Given the description of an element on the screen output the (x, y) to click on. 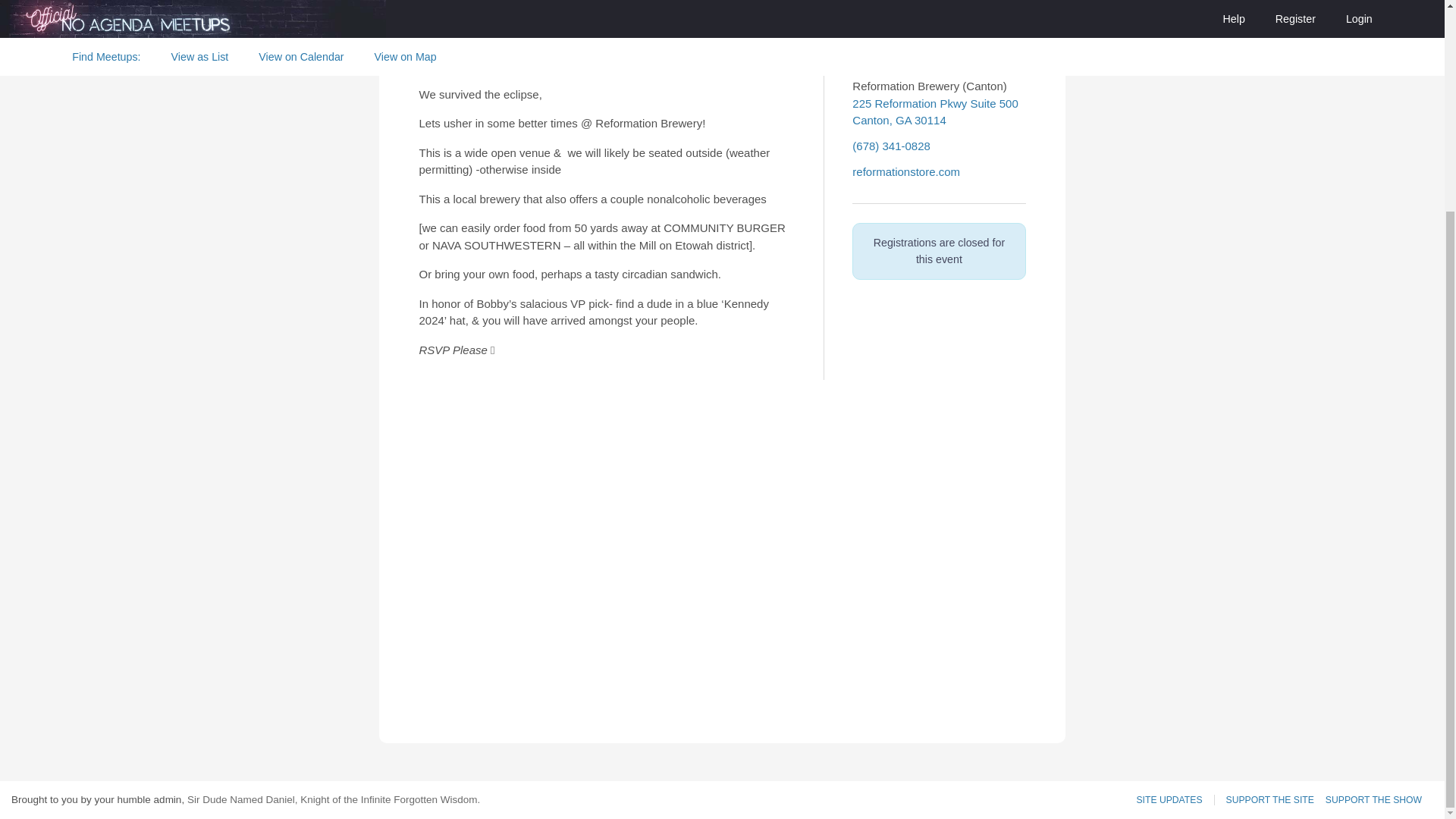
SITE UPDATES (1174, 799)
SUPPORT THE SHOW (1378, 799)
SUPPORT THE SITE (934, 112)
reformationstore.com (1274, 799)
